Given the description of an element on the screen output the (x, y) to click on. 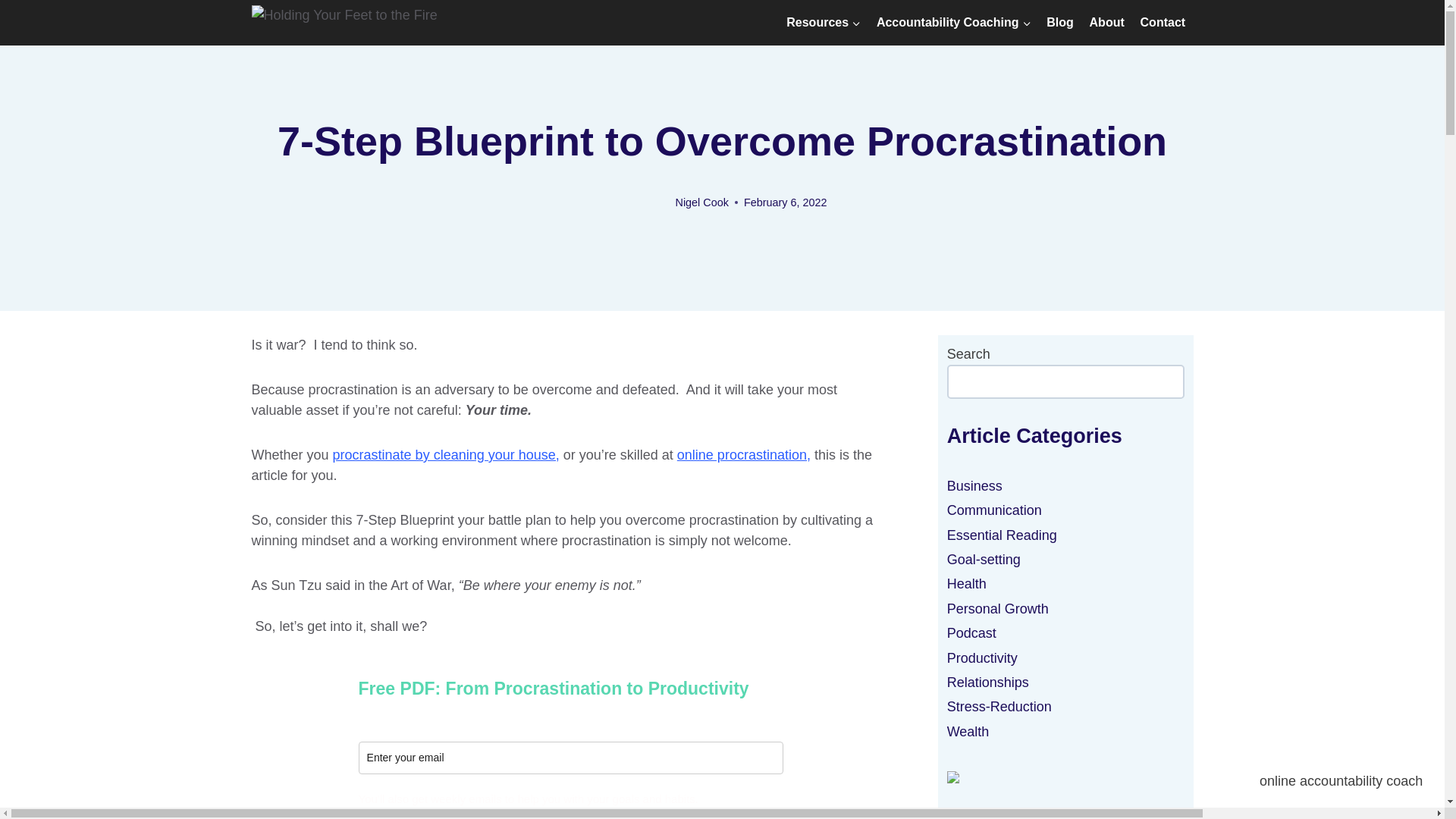
Health (967, 583)
Business (975, 485)
Contact (1162, 22)
About (1106, 22)
Communication (994, 509)
Relationships (988, 682)
Blog (1060, 22)
procrastinate by cleaning your house, (446, 454)
Productivity (982, 657)
Essential Reading (1002, 534)
